Given the description of an element on the screen output the (x, y) to click on. 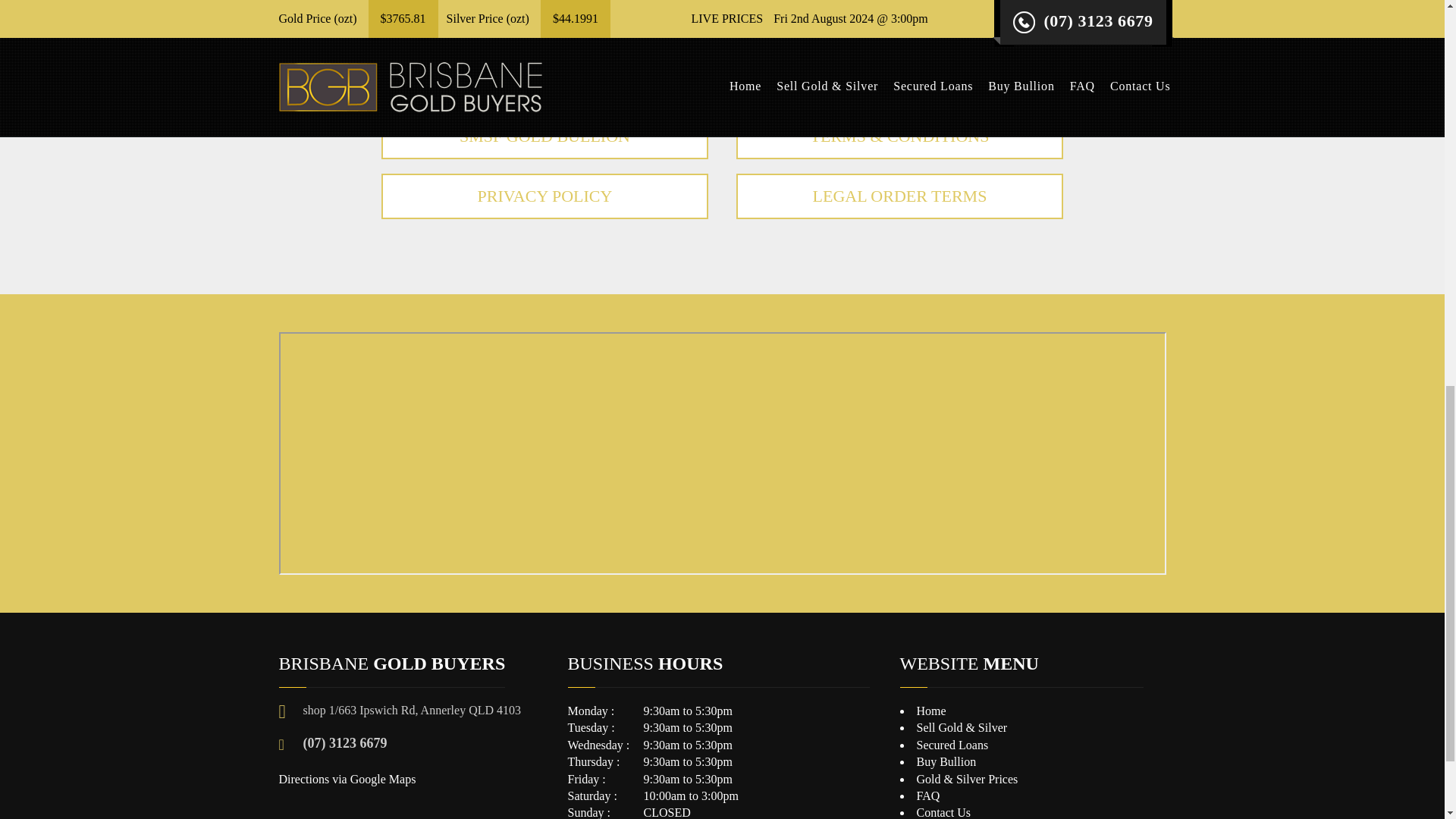
SMSF GOLD BULLION (544, 135)
FAQ (927, 795)
PRIVACY POLICY (544, 196)
Directions via Google Maps (347, 779)
Secured Loans (951, 744)
Contact Us (943, 812)
LEGAL ORDER TERMS (899, 196)
AusTrac.gov.au website. (710, 42)
Buy Bullion (945, 761)
Home (929, 710)
